Given the description of an element on the screen output the (x, y) to click on. 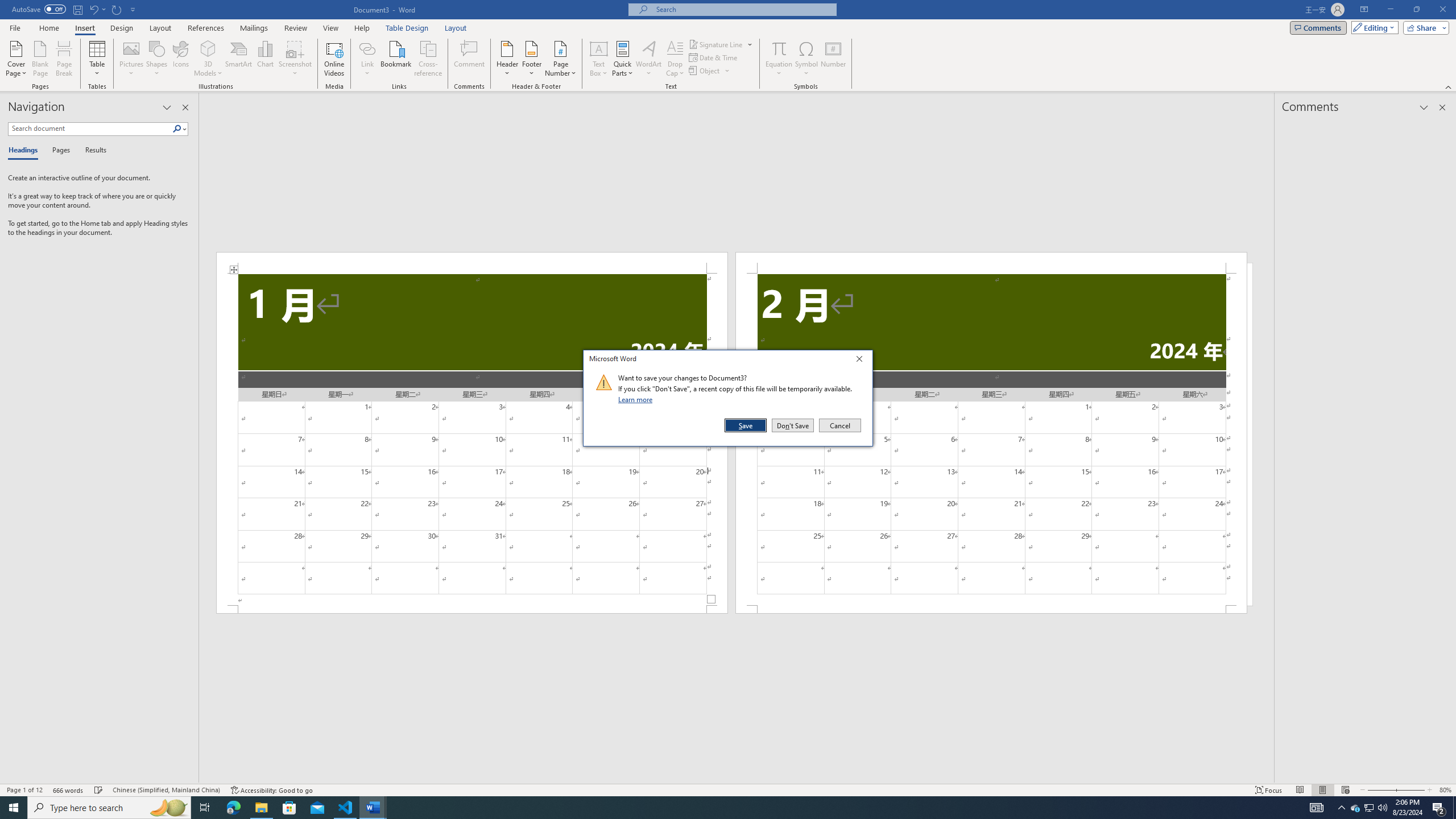
Chart... (265, 58)
Q2790: 100% (1382, 807)
Quick Access Toolbar (74, 9)
Learn more (636, 399)
Blank Page (40, 58)
Results (91, 150)
Cover Page (16, 58)
Object... (709, 69)
File Explorer - 1 running window (261, 807)
Layout (455, 28)
Review (295, 28)
Signature Line (721, 44)
Text Box (598, 58)
Signature Line (716, 44)
